Given the description of an element on the screen output the (x, y) to click on. 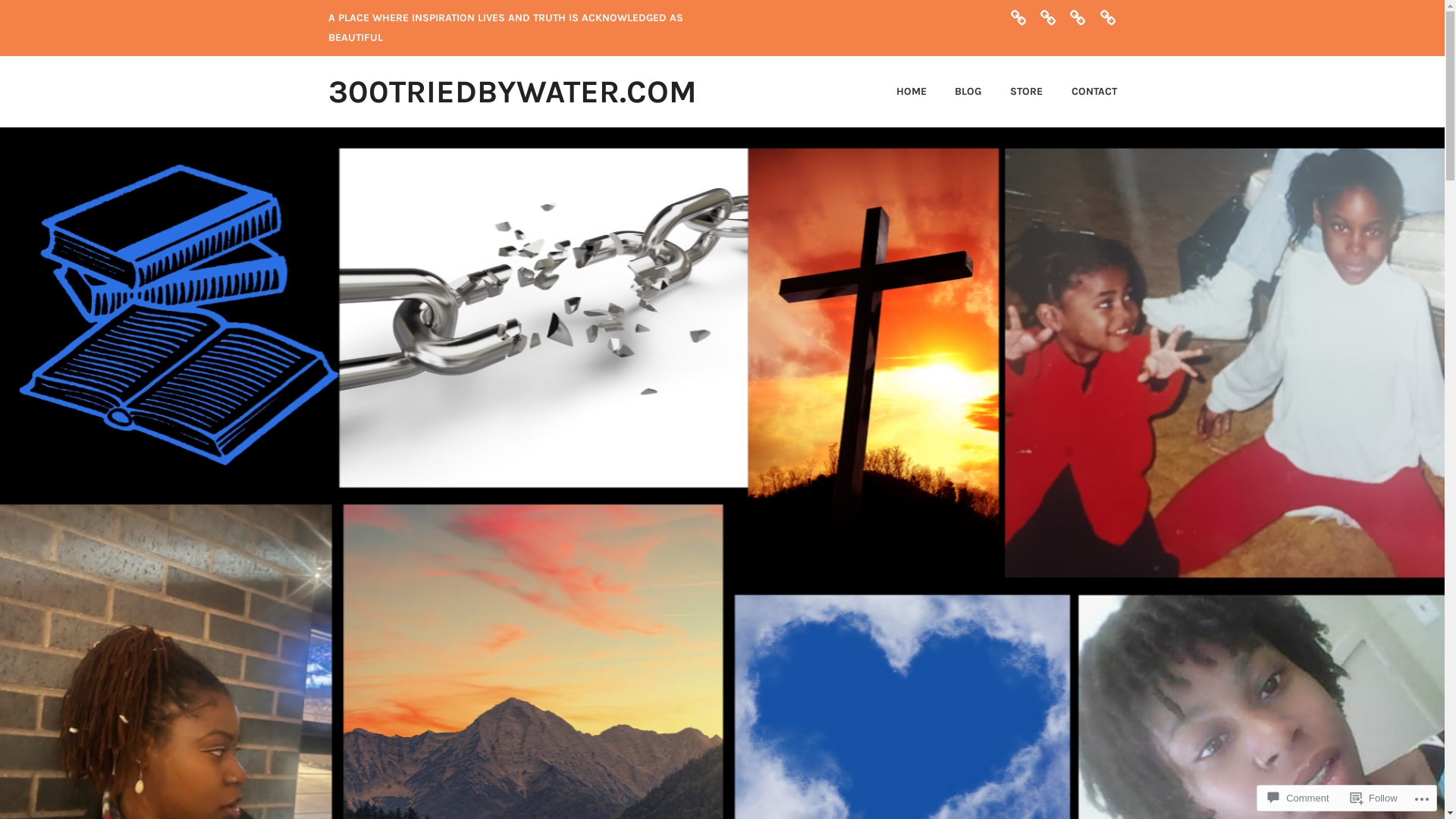
Follow Element type: text (1373, 797)
CONTACT Element type: text (1081, 91)
BLOG Element type: text (955, 91)
300TRIEDBYWATER.COM Element type: text (511, 91)
HOME Element type: text (898, 91)
Comment Element type: text (1297, 797)
Search Element type: text (36, 12)
STORE Element type: text (1013, 91)
